Given the description of an element on the screen output the (x, y) to click on. 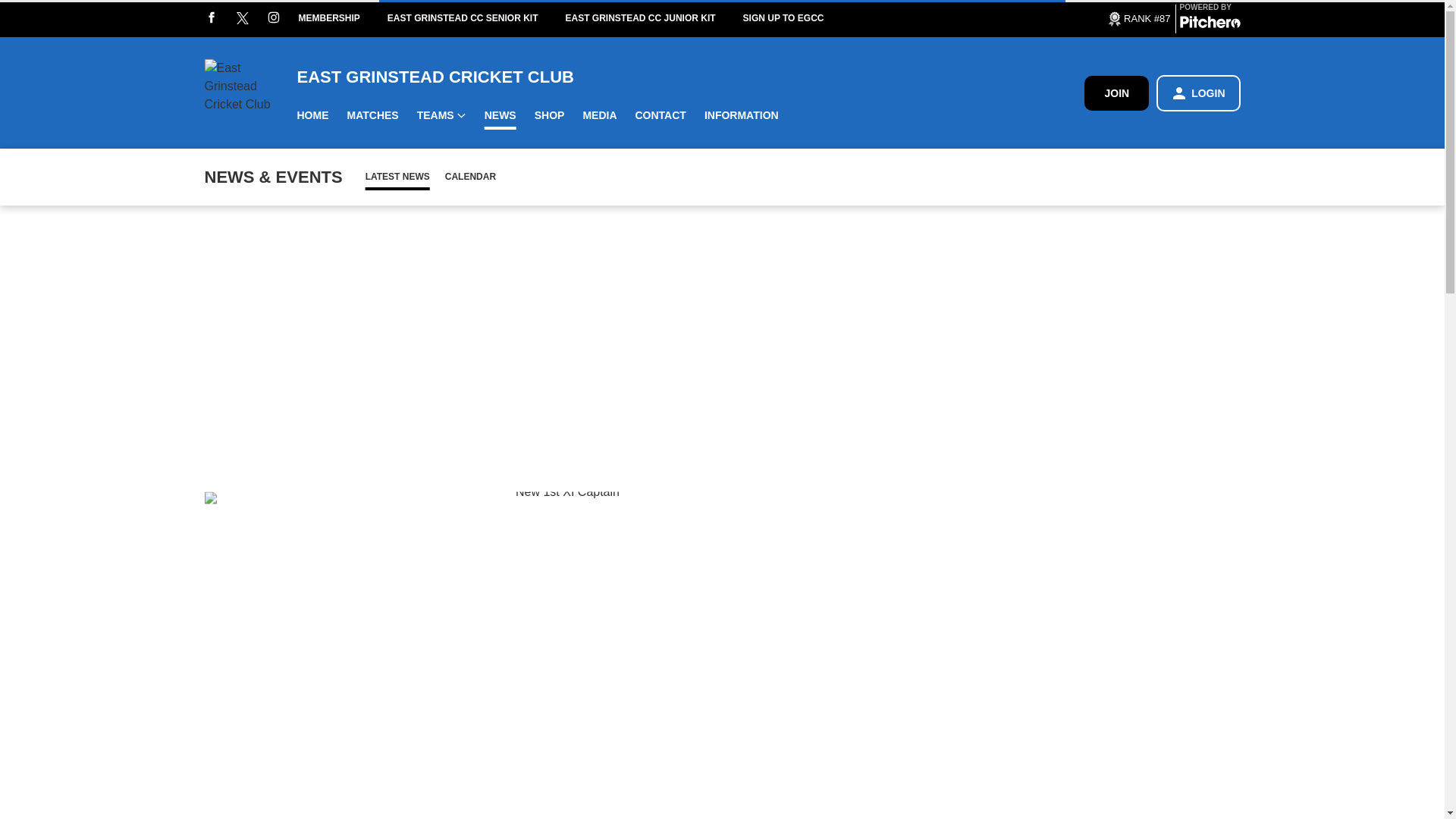
MEMBERSHIP (342, 18)
MATCHES (372, 115)
MEDIA (599, 115)
SHOP (549, 115)
LOGIN (1198, 93)
EAST GRINSTEAD CRICKET CLUB (690, 76)
Pitchero Rankings (1137, 18)
HOME (312, 115)
EAST GRINSTEAD CC JUNIOR KIT (654, 18)
SIGN UP TO EGCC (796, 18)
